Given the description of an element on the screen output the (x, y) to click on. 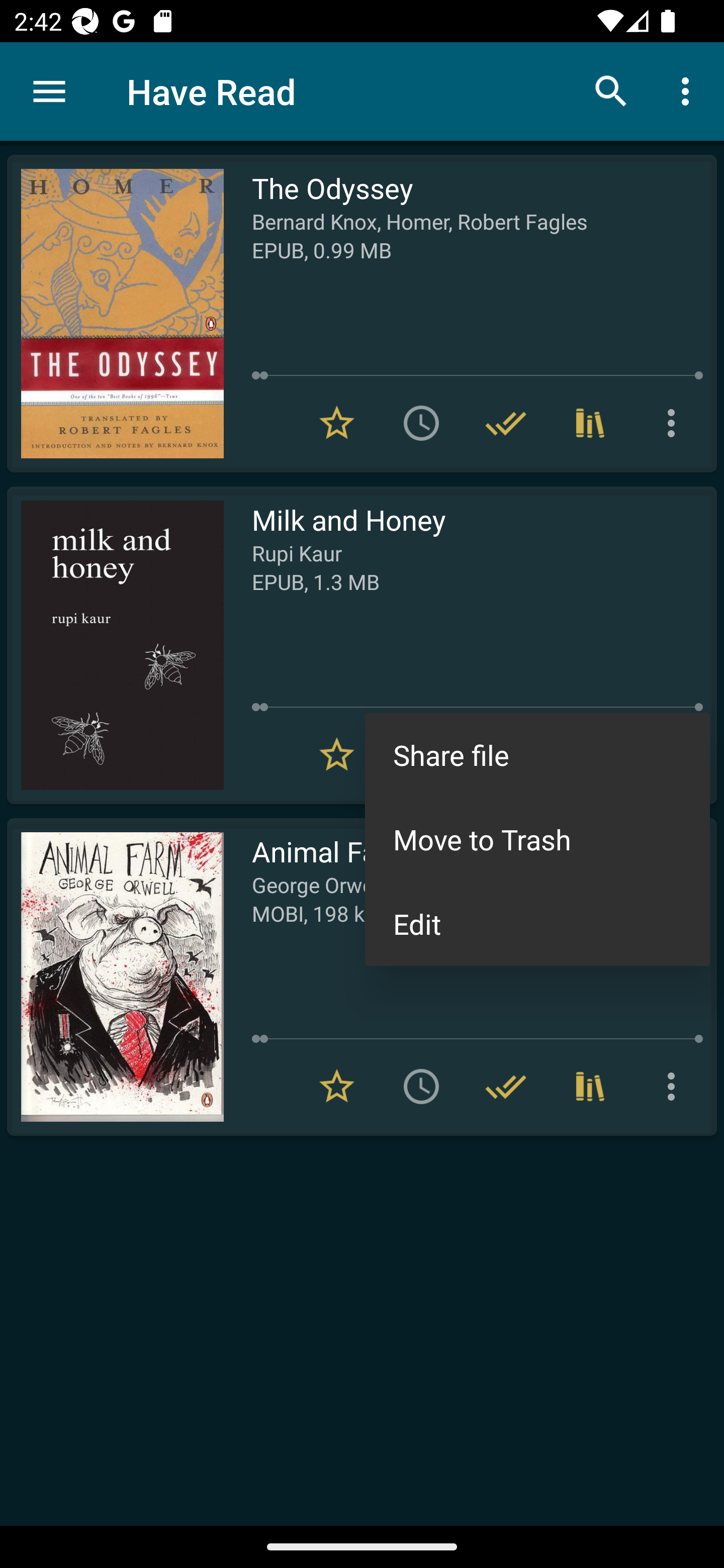
Share file (537, 753)
Move to Trash (537, 838)
Edit (537, 923)
